Given the description of an element on the screen output the (x, y) to click on. 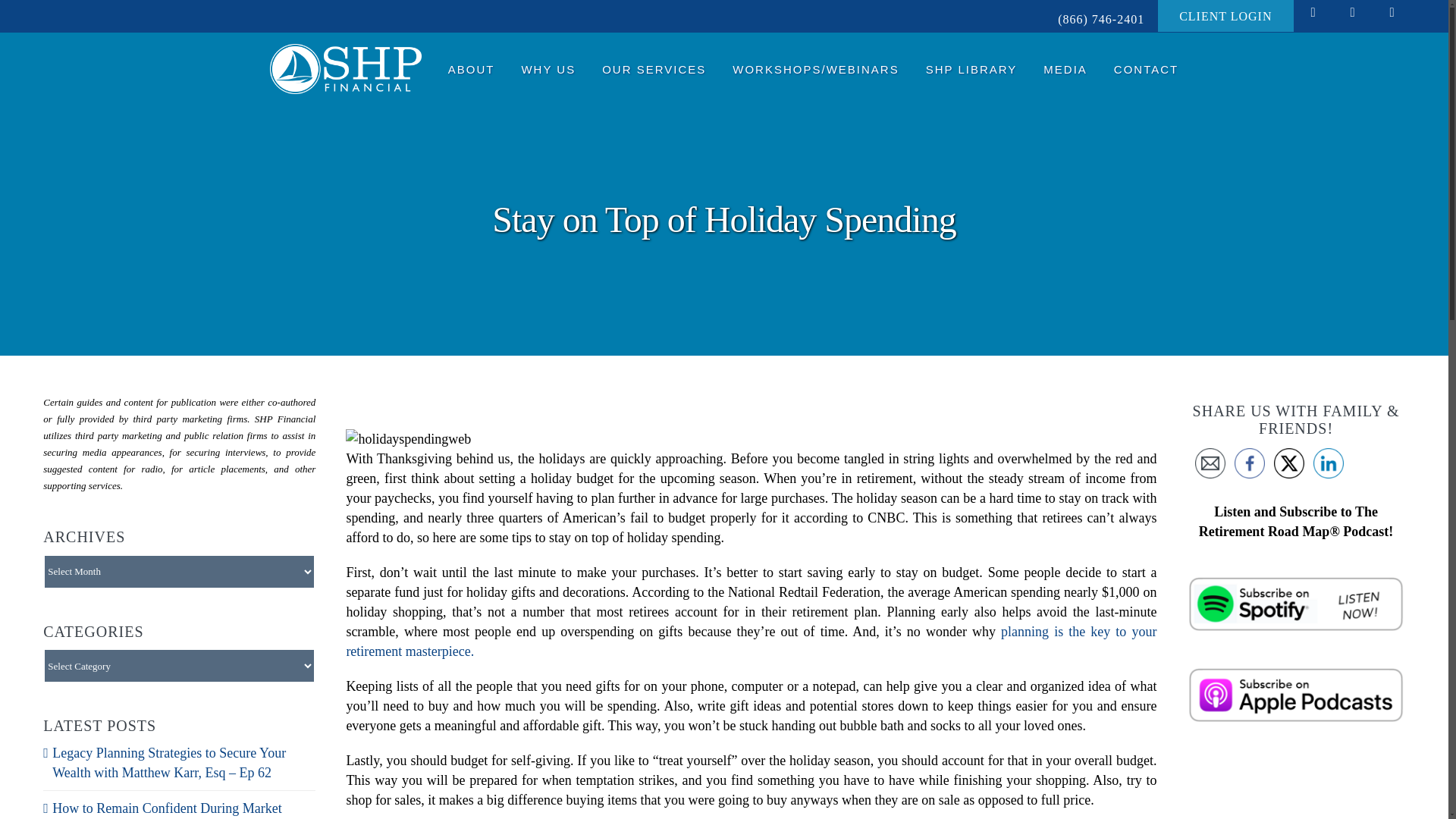
WHY US (548, 68)
Twitter (1289, 462)
Follow by Email (1210, 462)
MEDIA (1065, 68)
Facebook (1249, 462)
SHP LIBRARY (971, 68)
LinkedIn (1328, 462)
OUR SERVICES (654, 68)
CLIENT LOGIN (1225, 15)
ABOUT (471, 68)
